Given the description of an element on the screen output the (x, y) to click on. 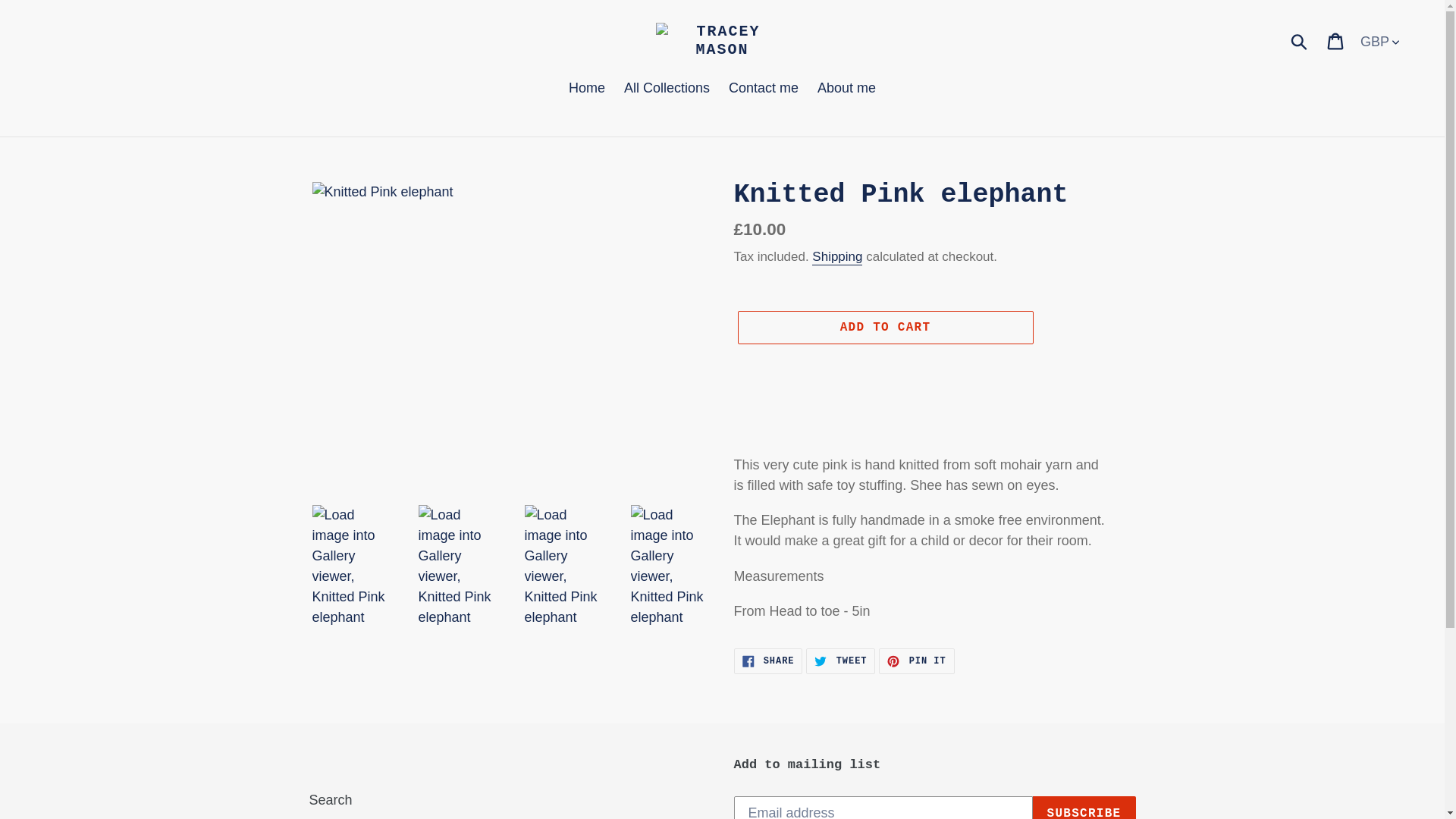
Page 2 (934, 520)
All Collections (666, 88)
Privacy Policy (351, 817)
SUBSCRIBE (1083, 807)
Submit (1300, 40)
Cart (768, 661)
Shipping (1336, 40)
About me (836, 257)
